Given the description of an element on the screen output the (x, y) to click on. 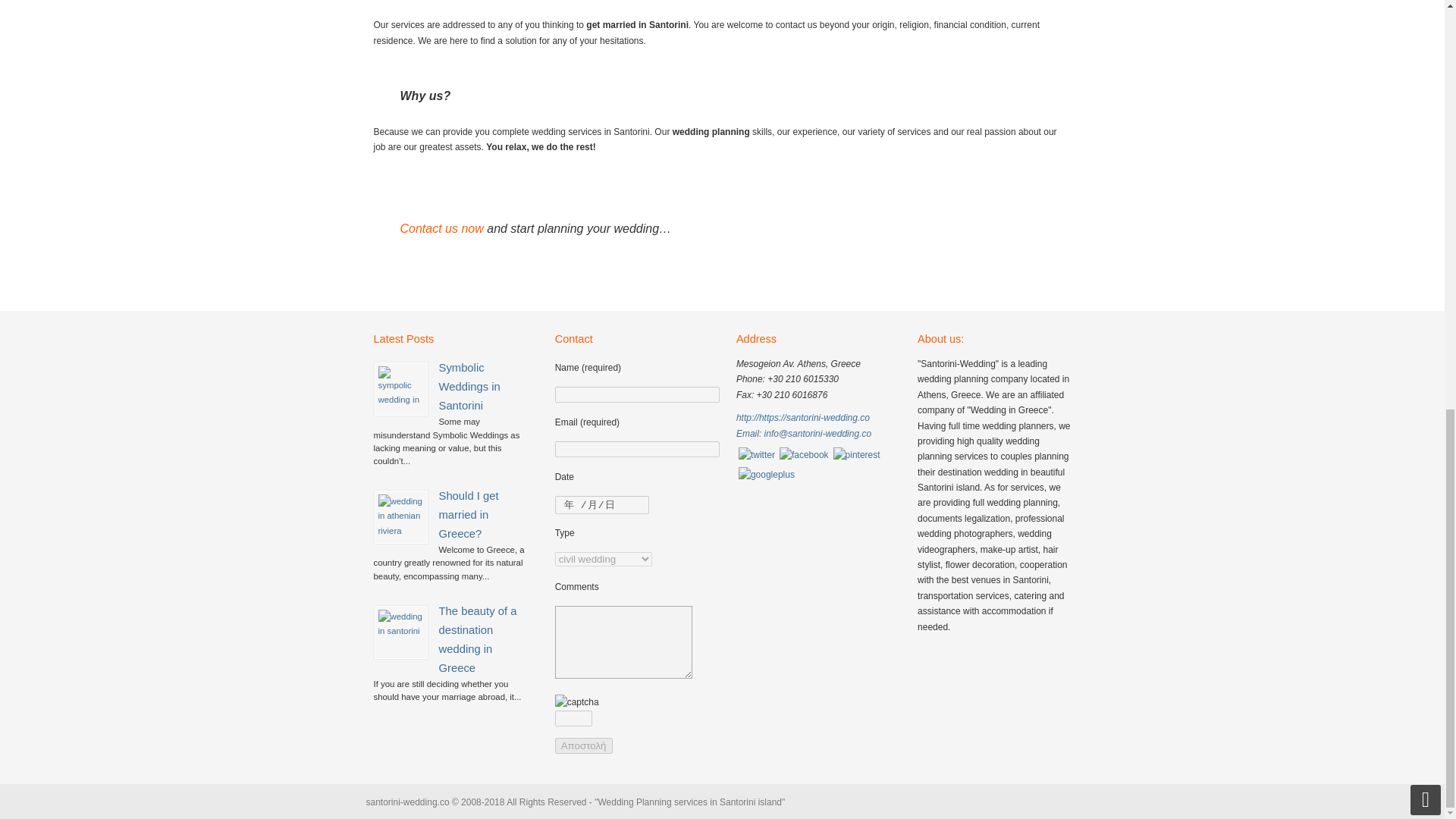
Symbolic Weddings in Santorini (468, 386)
Contact Santorini wedding planning team (441, 228)
Symbolic Weddings in Santorini (400, 388)
